Given the description of an element on the screen output the (x, y) to click on. 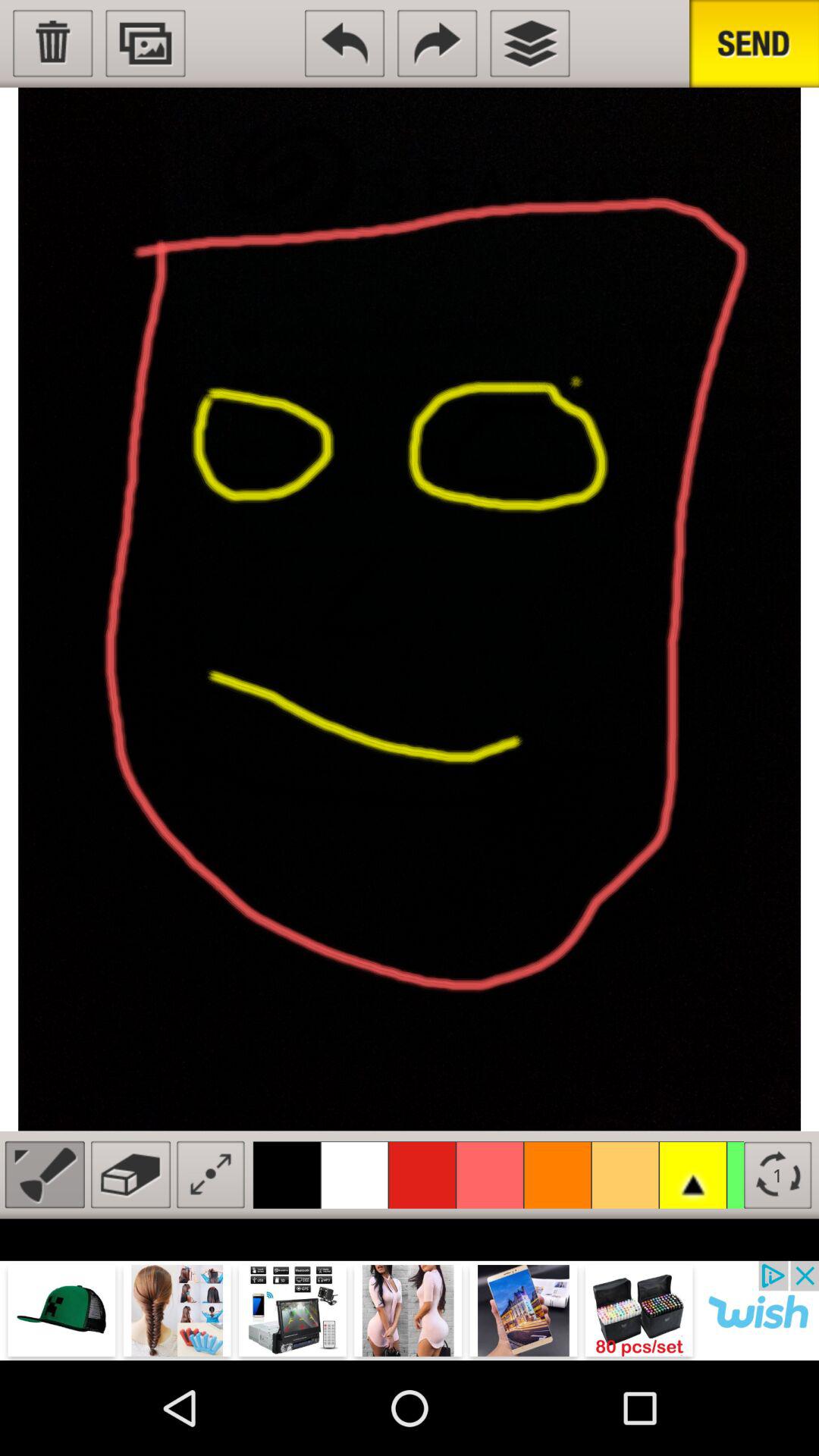
send (754, 43)
